Given the description of an element on the screen output the (x, y) to click on. 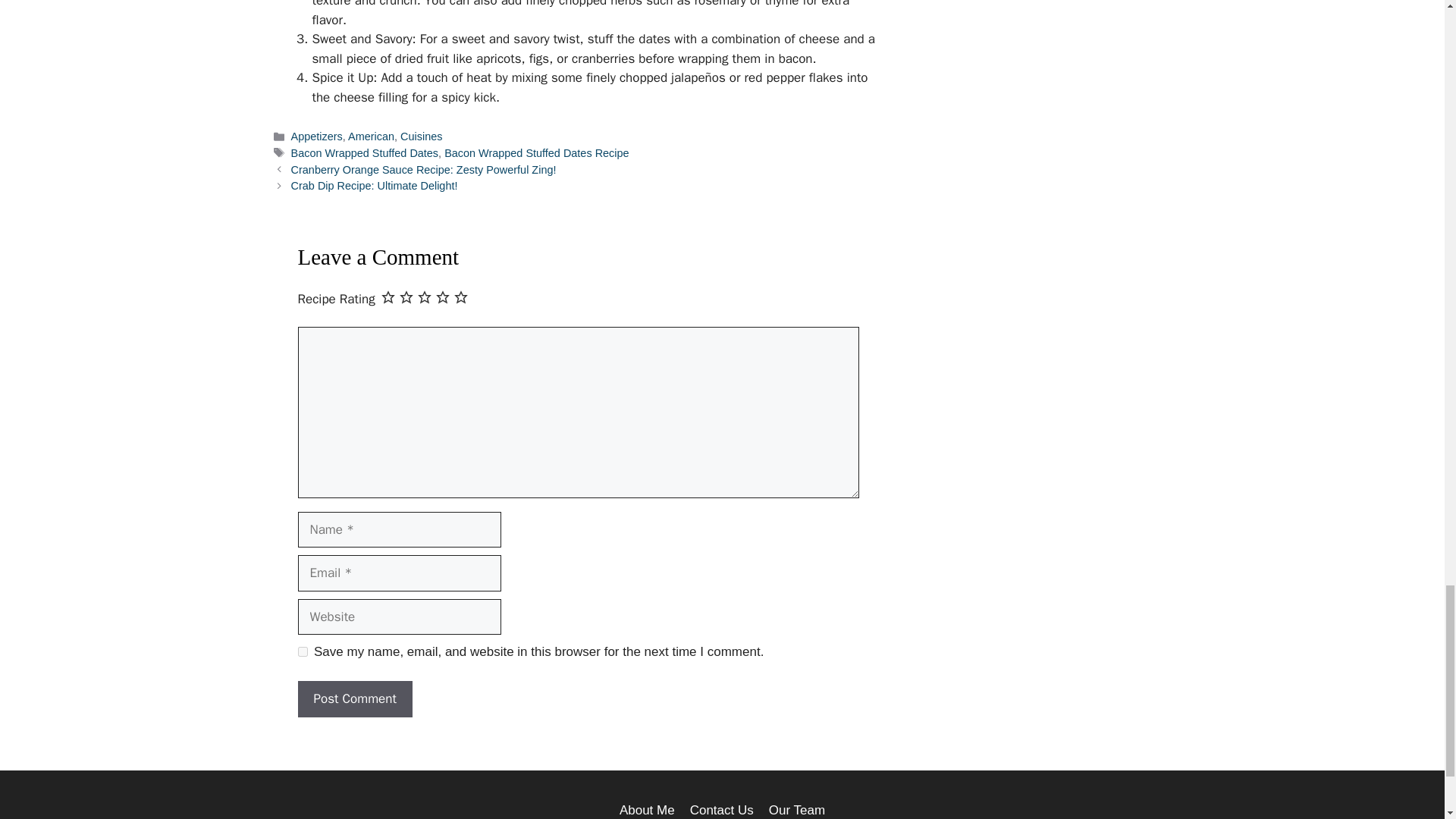
yes (302, 651)
Appetizers (316, 136)
Post Comment (354, 698)
